Given the description of an element on the screen output the (x, y) to click on. 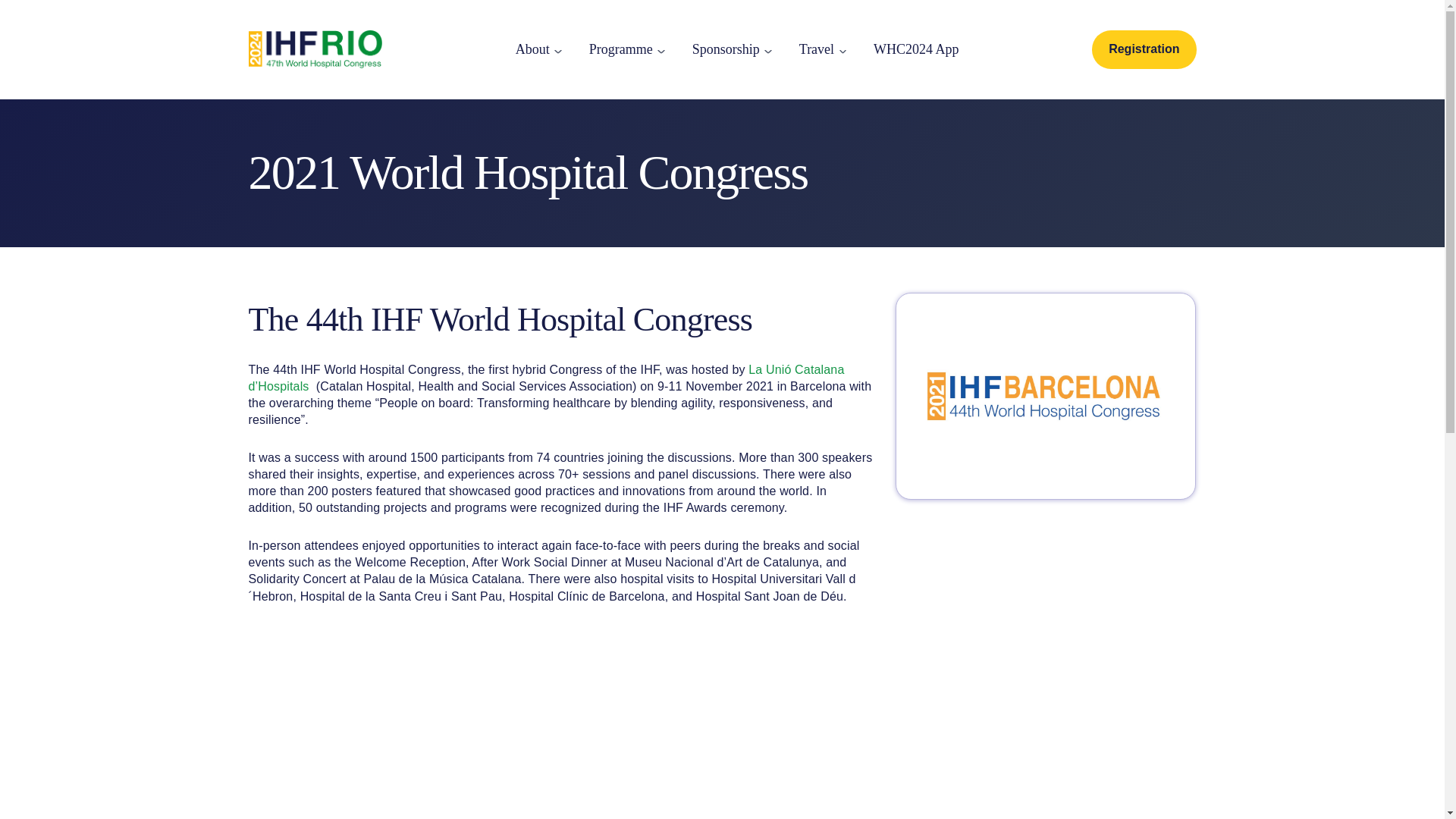
About (532, 49)
Programme (620, 49)
44th IHF World Hospital Congress Highlights (437, 734)
